Given the description of an element on the screen output the (x, y) to click on. 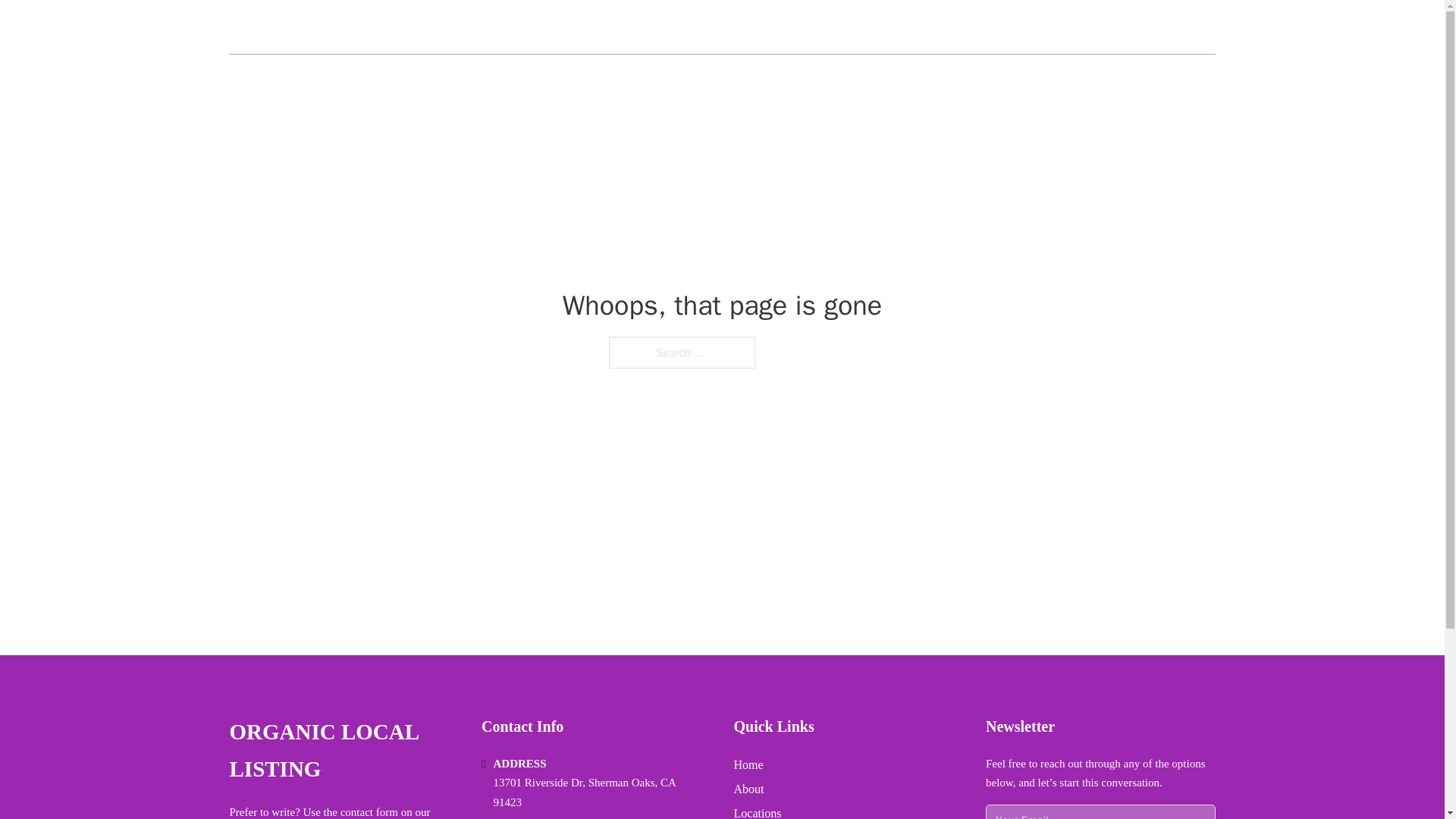
Locations (757, 811)
ORGANIC LOCAL LISTING (346, 26)
HOME (1032, 27)
About (748, 788)
ORGANIC LOCAL LISTING (343, 750)
LOCATIONS (1105, 27)
Home (747, 764)
